Given the description of an element on the screen output the (x, y) to click on. 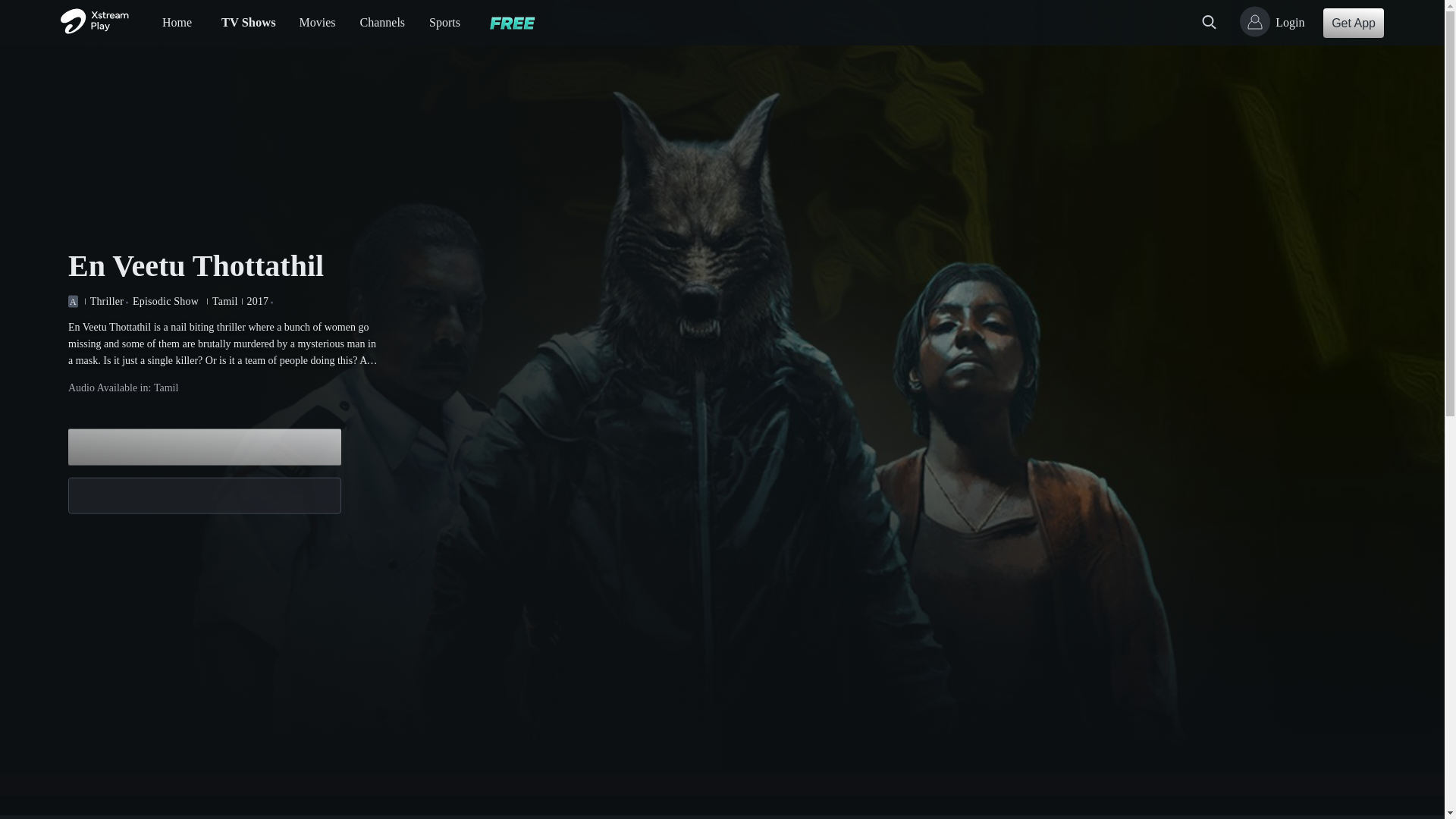
Home (176, 21)
Get App (1353, 21)
TV Shows (248, 21)
Channels (382, 21)
Sports (444, 21)
Login (1275, 22)
Movies (317, 21)
